Given the description of an element on the screen output the (x, y) to click on. 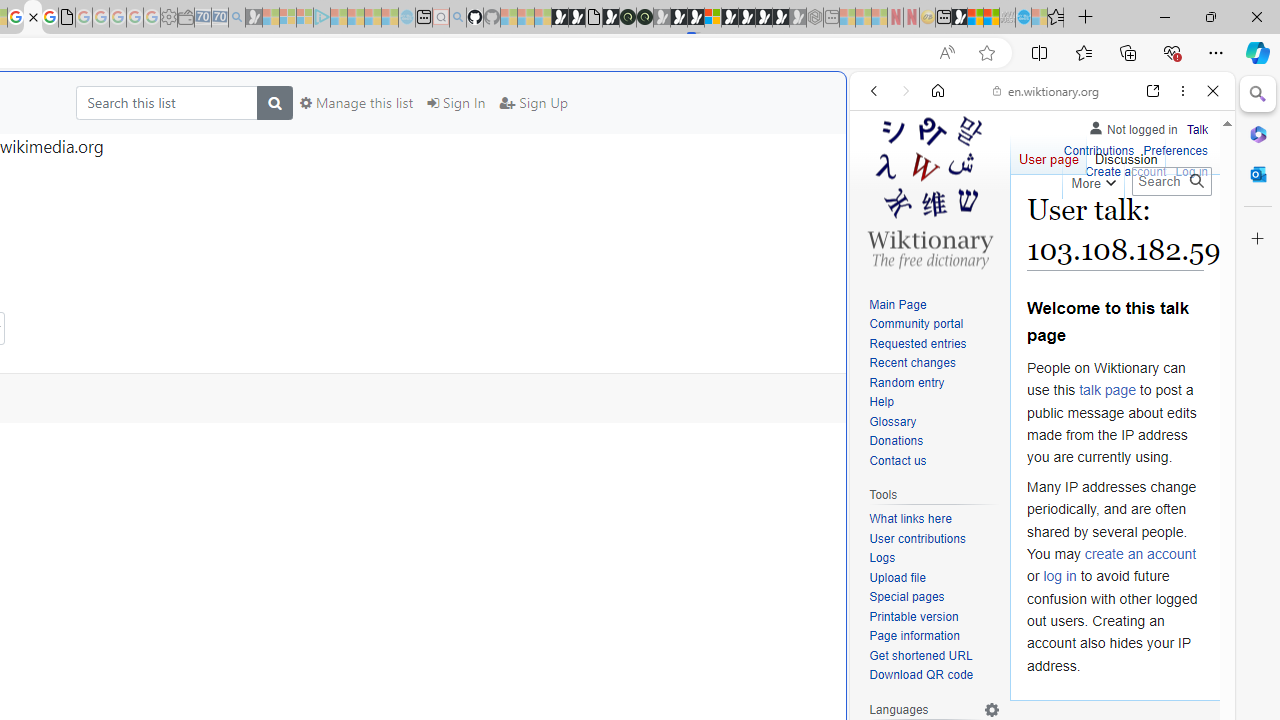
Download QR code (921, 675)
User page (1048, 154)
Frequently visited (418, 265)
Requested entries (917, 343)
Play Zoo Boom in your browser | Games from Microsoft Start (576, 17)
Earth has six continents not seven, radical new study claims (991, 17)
Language settings (992, 709)
Search this list (166, 102)
What links here (910, 519)
